Given the description of an element on the screen output the (x, y) to click on. 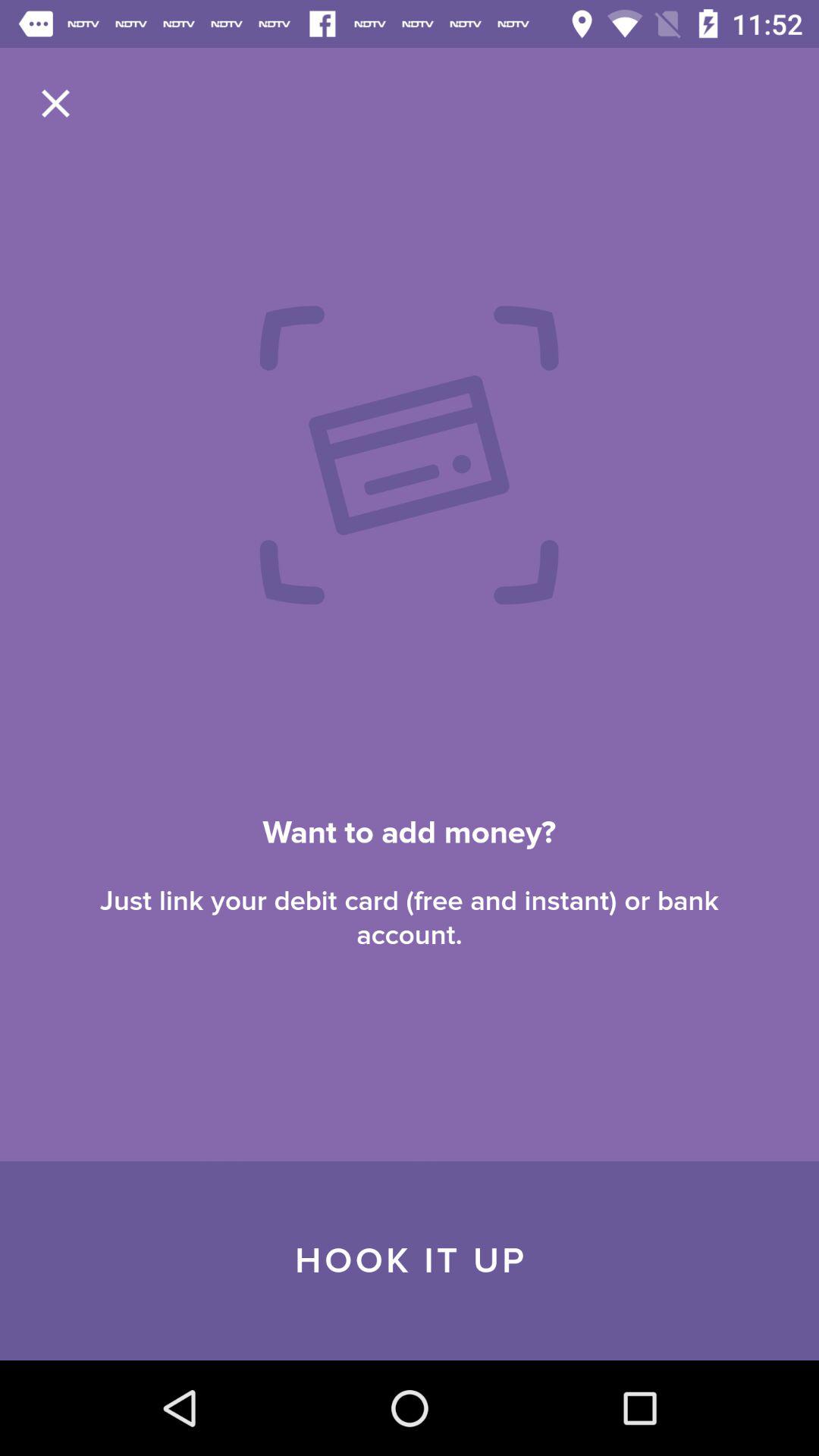
jump to hook it up (409, 1260)
